Given the description of an element on the screen output the (x, y) to click on. 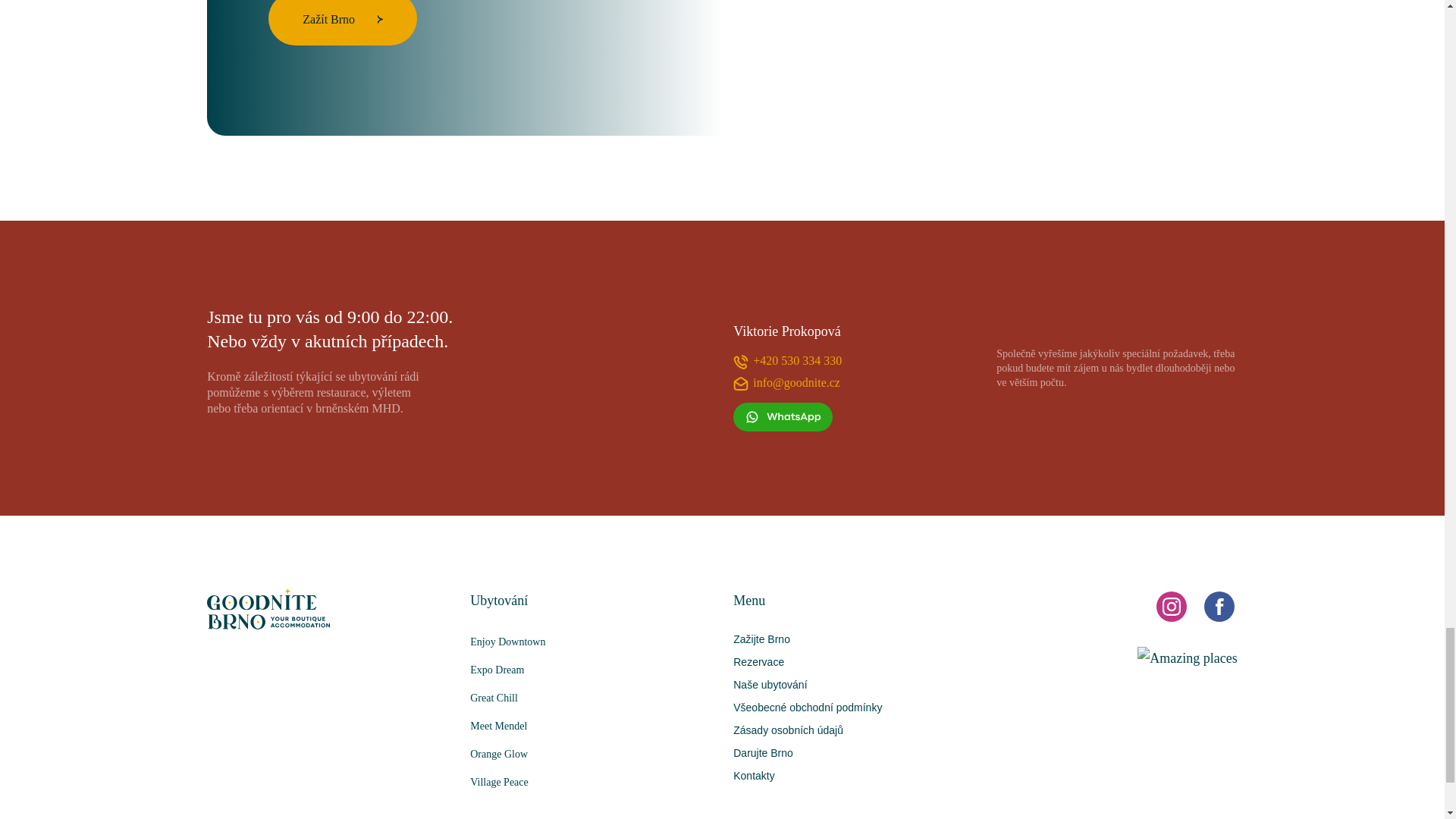
Meet Mendel (590, 725)
Enjoy Downtown (590, 642)
Great Chill (590, 697)
Darujte Brno (763, 752)
Orange Glow (590, 754)
Village Peace (590, 782)
Expo Dream (590, 669)
Rezervace (758, 662)
Kontakty (753, 775)
Kontakty (753, 775)
Darujte Brno (763, 752)
Rezervace (758, 662)
